Given the description of an element on the screen output the (x, y) to click on. 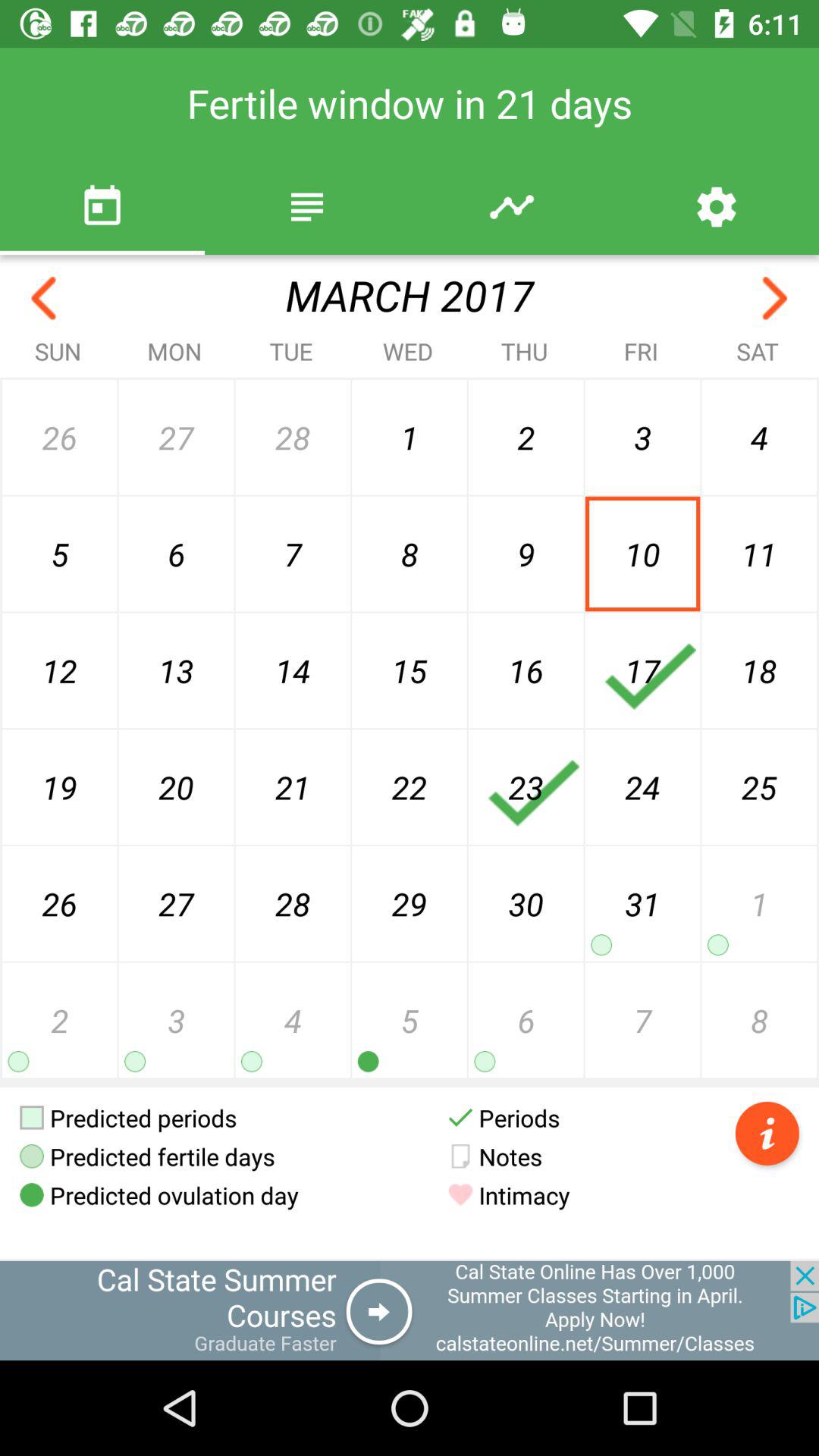
next page the article (775, 298)
